Given the description of an element on the screen output the (x, y) to click on. 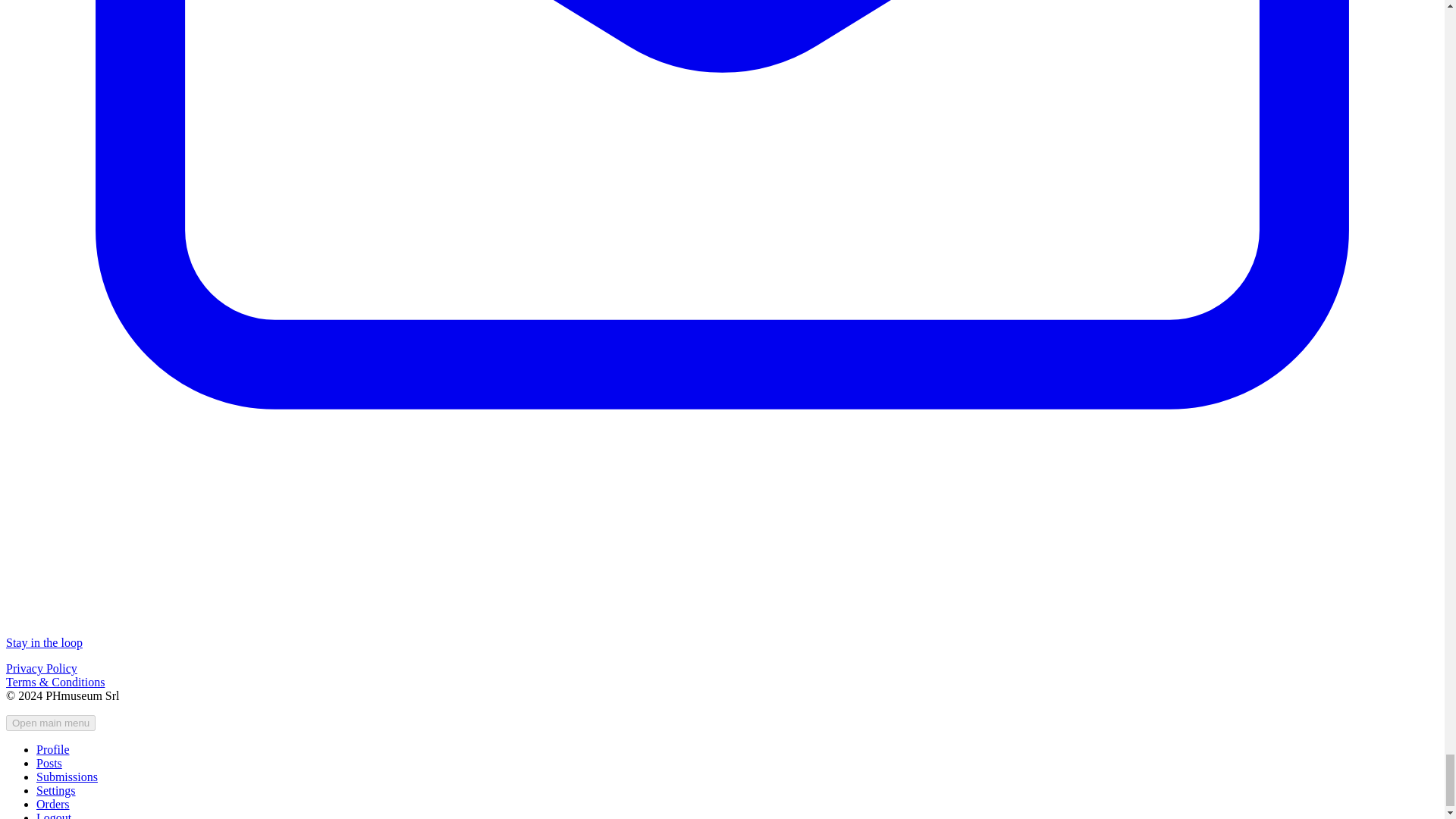
Submissions (66, 776)
Posts (49, 762)
Privacy Policy (41, 667)
Settings (55, 789)
Profile (52, 748)
Open main menu (50, 722)
Orders (52, 803)
